Given the description of an element on the screen output the (x, y) to click on. 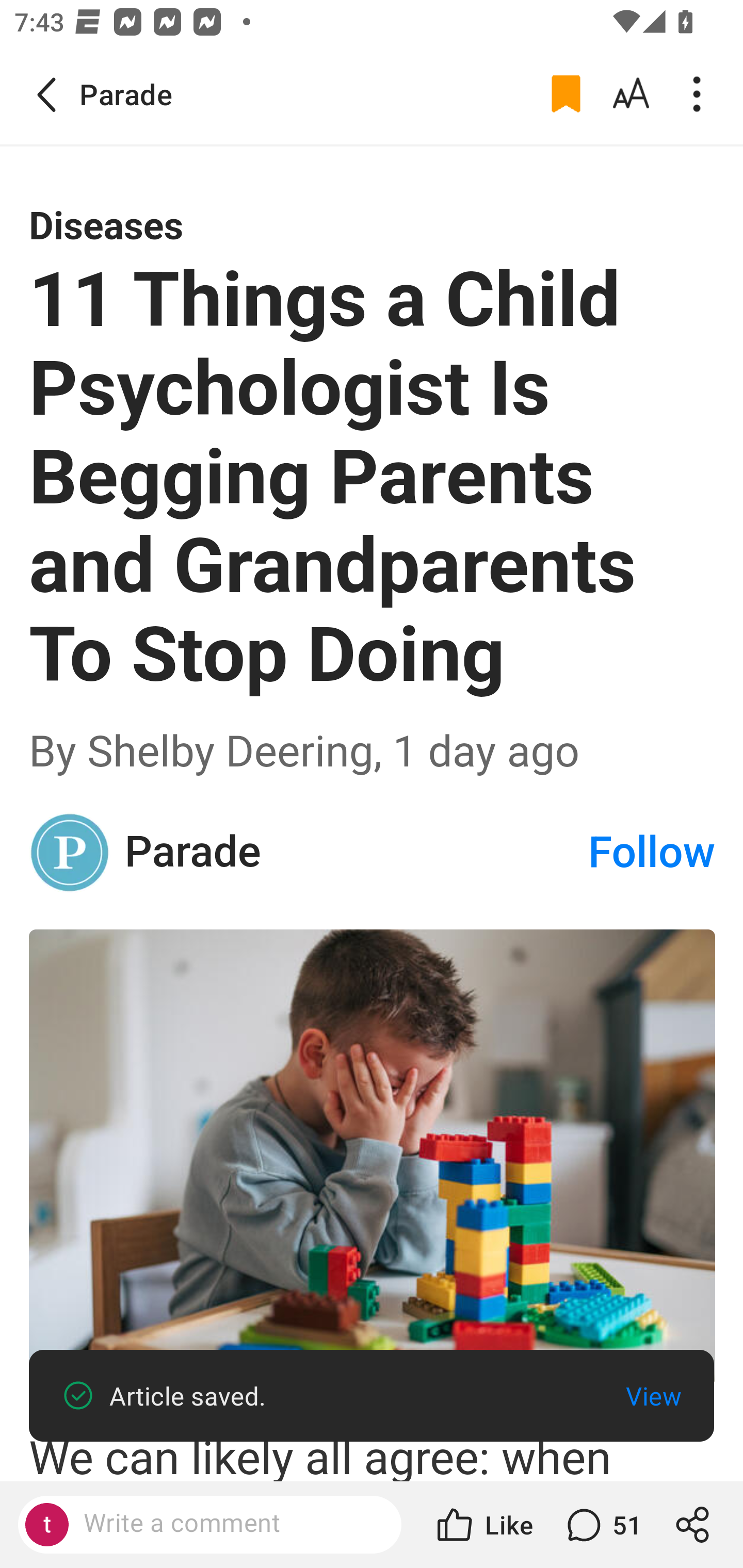
Parade (70, 851)
Parade (355, 852)
Follow (651, 851)
View (653, 1395)
Like (483, 1524)
51 (601, 1524)
Write a comment (226, 1523)
